Given the description of an element on the screen output the (x, y) to click on. 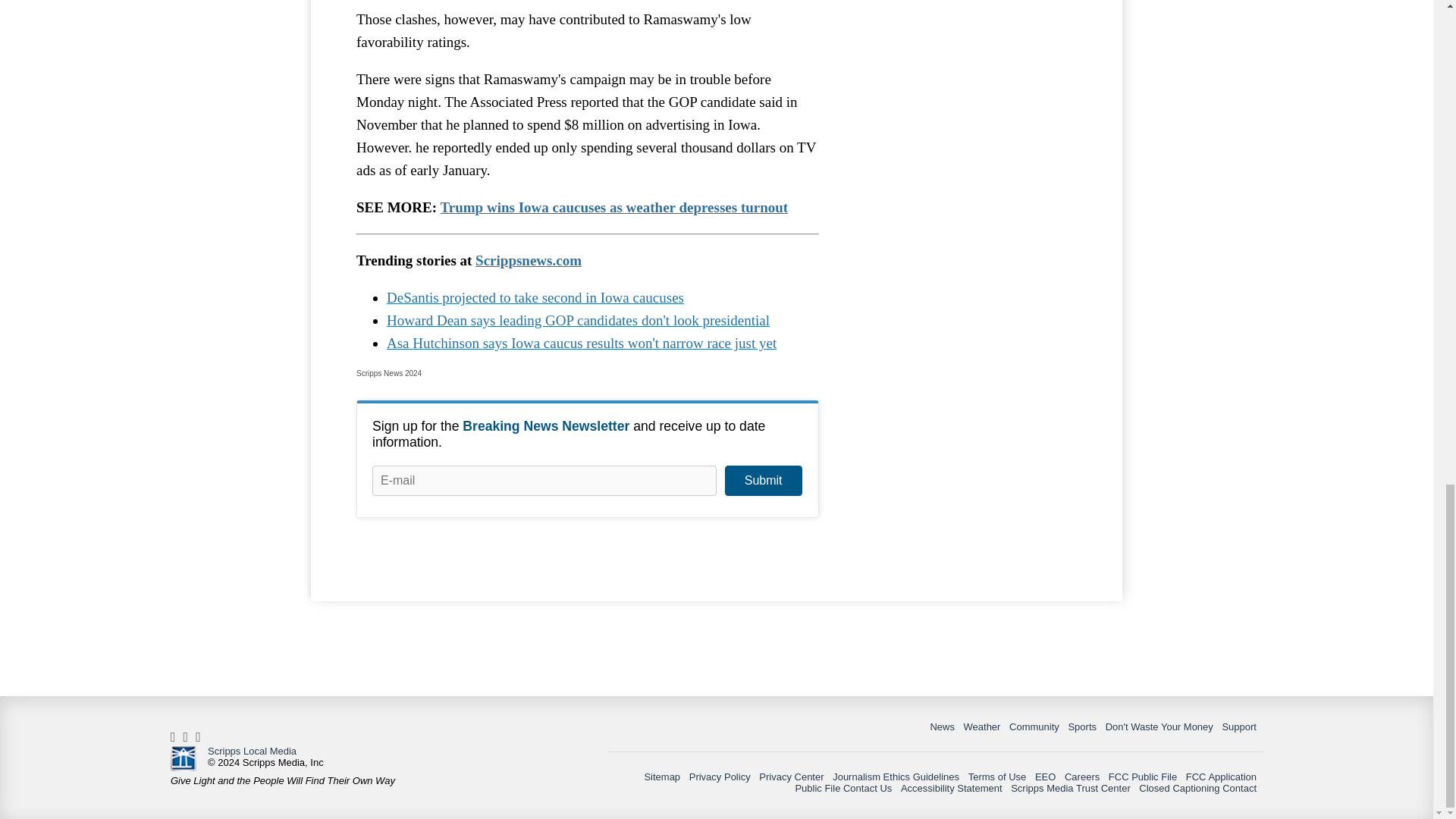
Submit (763, 481)
